Given the description of an element on the screen output the (x, y) to click on. 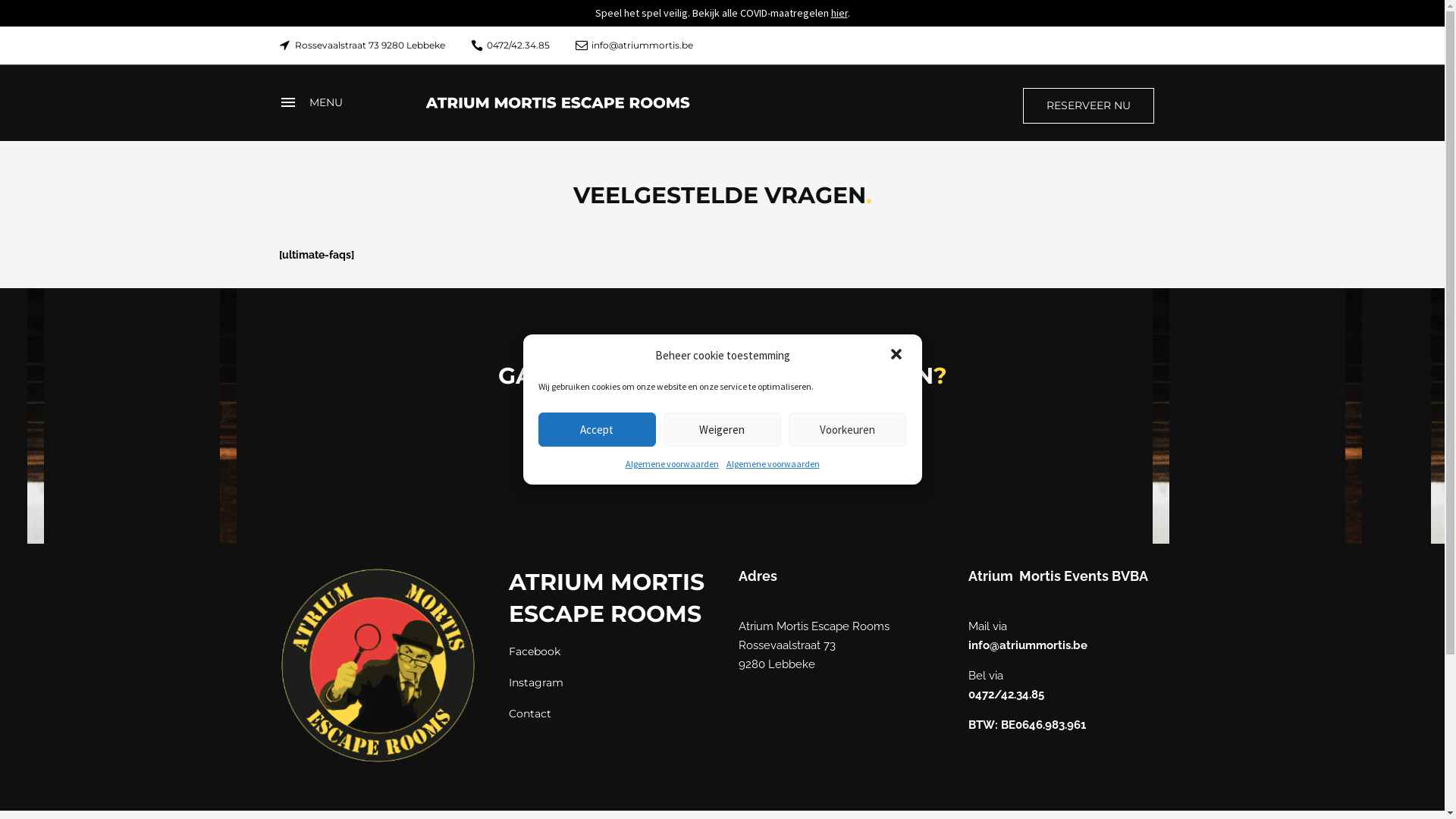
Accept Element type: text (596, 429)
Algemene voorwaarden Element type: text (671, 463)
Voorkeuren Element type: text (847, 429)
info@atriummortis.be Element type: text (1026, 645)
info@atriummortis.be Element type: text (642, 44)
0472/42.34.85 Element type: text (1005, 694)
Weigeren Element type: text (722, 429)
hier Element type: text (839, 12)
0472/42.34.85 Element type: text (517, 44)
Facebook Element type: text (533, 651)
Instagram Element type: text (535, 682)
Contact Element type: text (529, 713)
Algemene voorwaarden Element type: text (772, 463)
Primary Menu Element type: text (312, 102)
logo atrium mortis escape rooms Element type: hover (377, 665)
JA! IK WIL NU BOEKEN Element type: text (722, 452)
RESERVEER NU Element type: text (1087, 105)
